Given the description of an element on the screen output the (x, y) to click on. 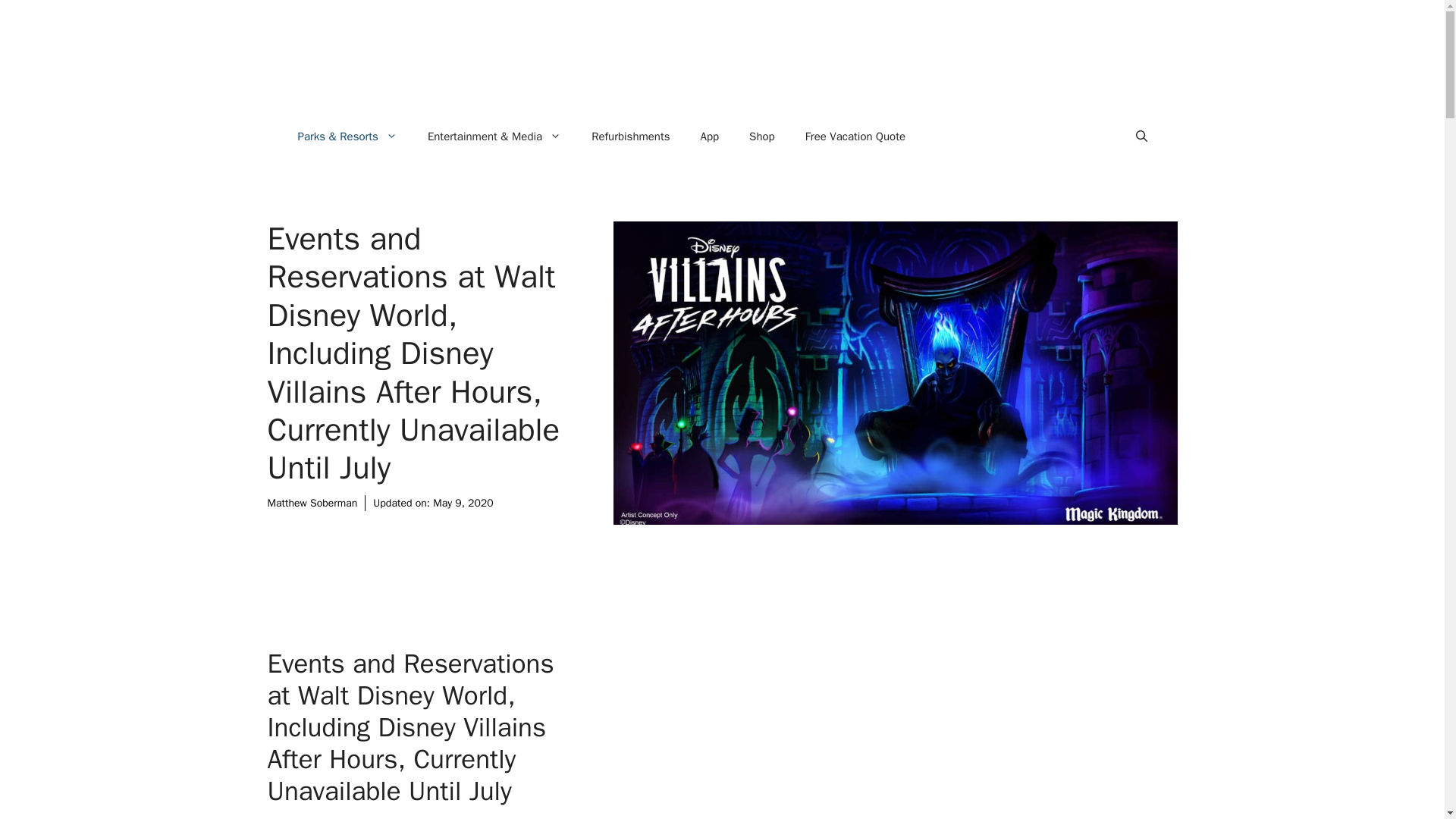
Shop (761, 135)
App (710, 135)
Free Vacation Quote (855, 135)
Refurbishments (630, 135)
